Given the description of an element on the screen output the (x, y) to click on. 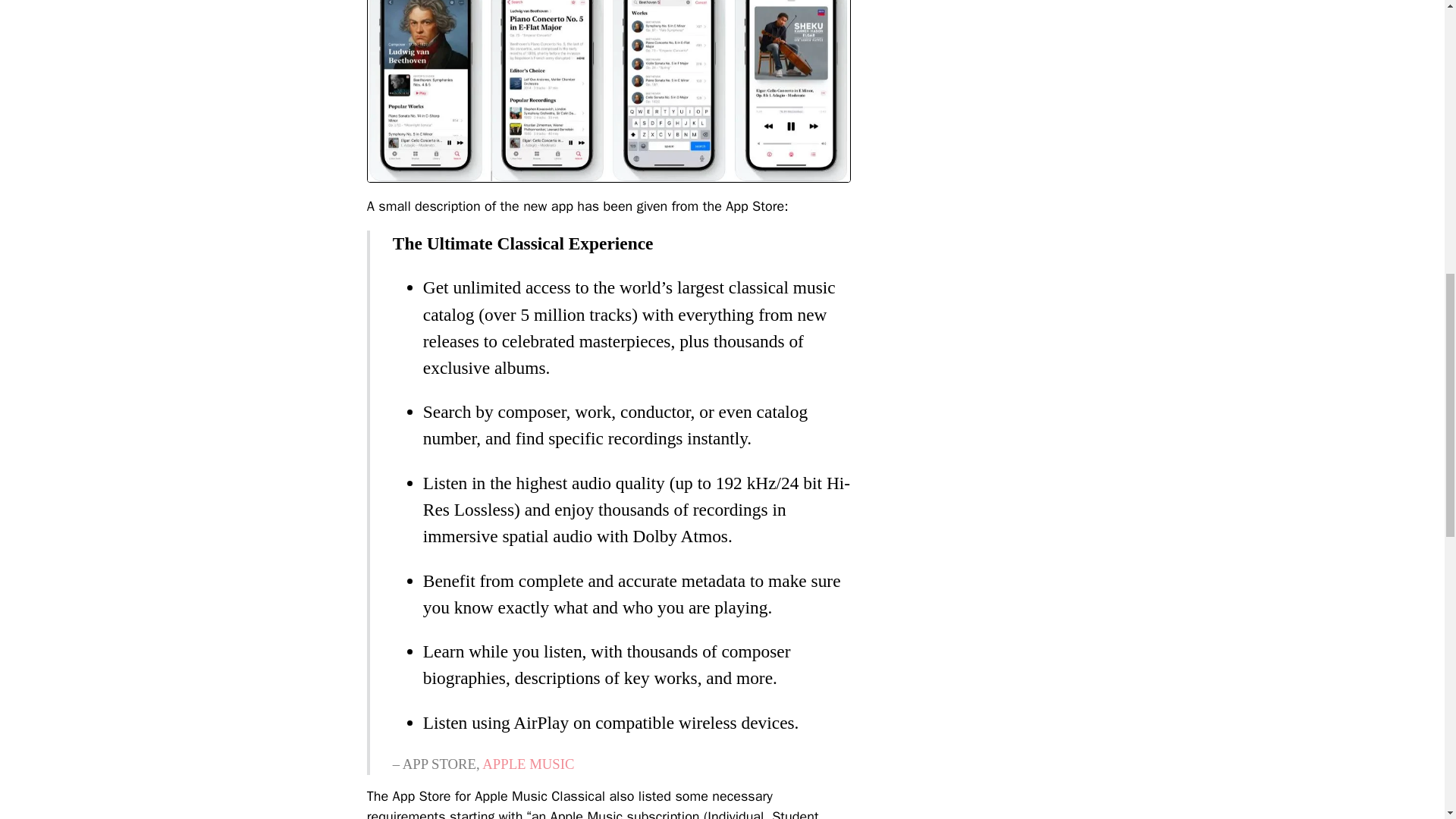
Apple Music Classical Launches On March 28 (608, 91)
